Given the description of an element on the screen output the (x, y) to click on. 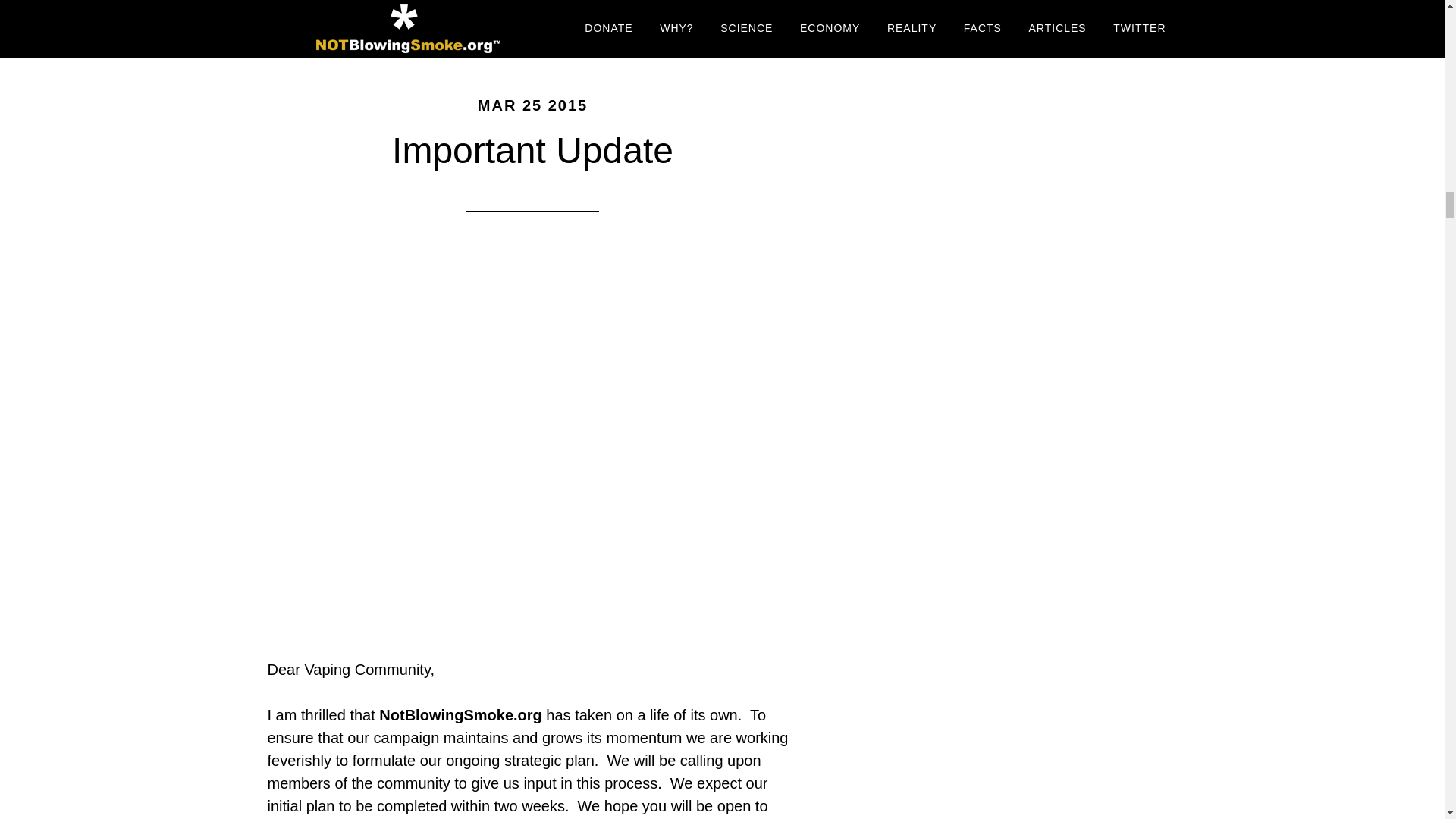
Stanford (539, 7)
Robert Jackler (453, 7)
British Medical Journal (548, 7)
CDC (379, 7)
